Given the description of an element on the screen output the (x, y) to click on. 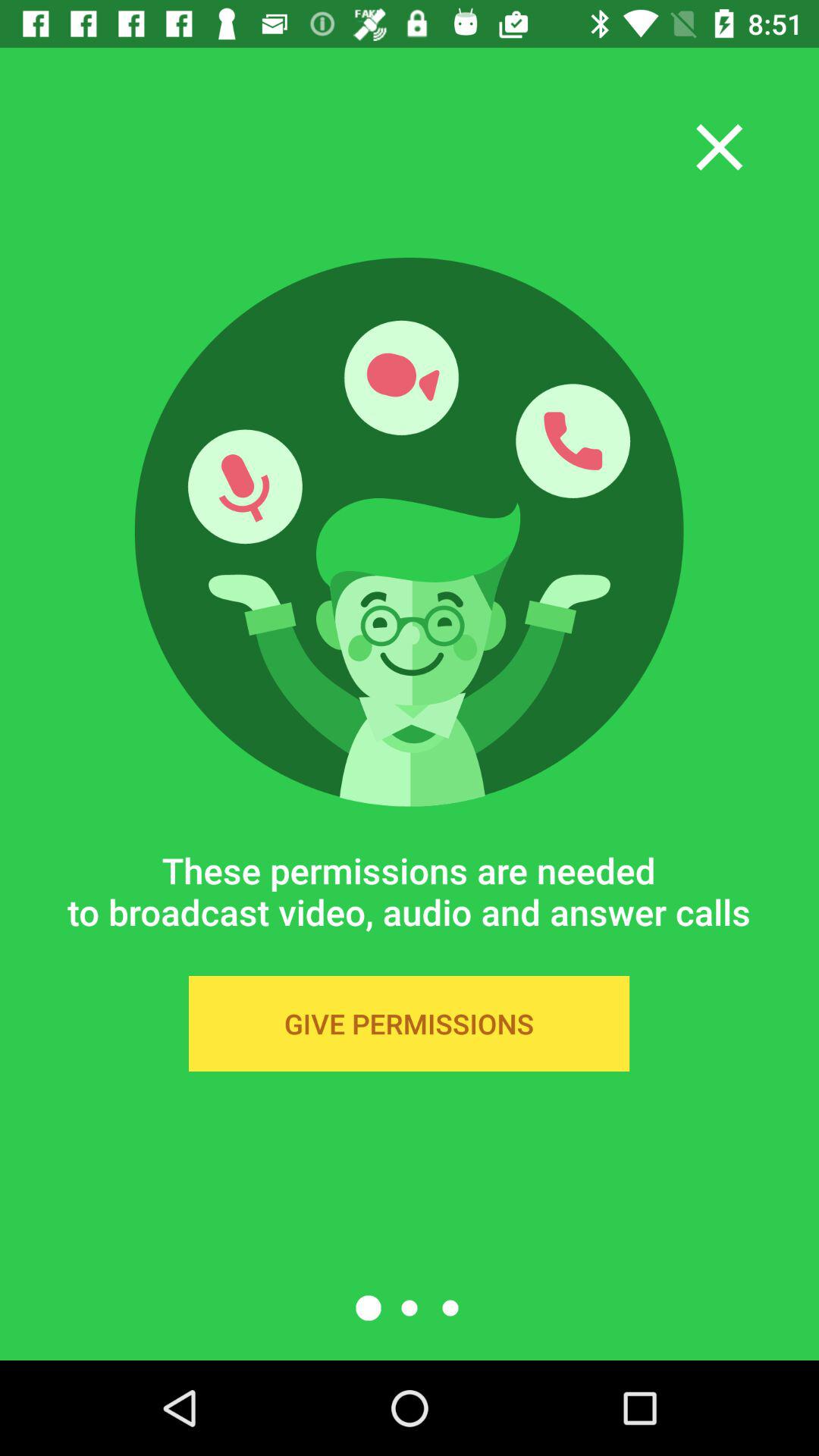
click the icon at the top right corner (719, 147)
